Given the description of an element on the screen output the (x, y) to click on. 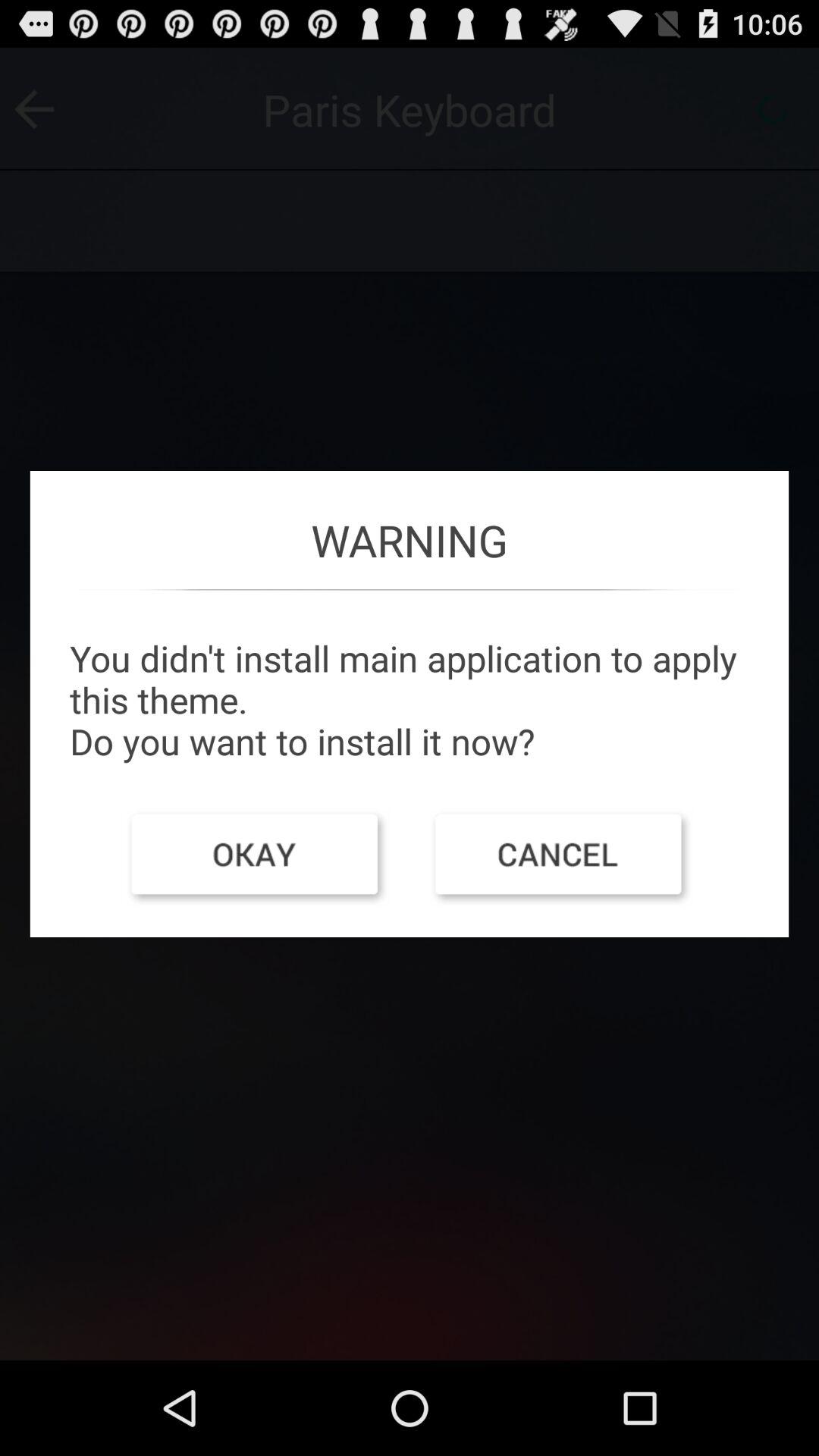
open the app below the you didn t item (561, 858)
